Given the description of an element on the screen output the (x, y) to click on. 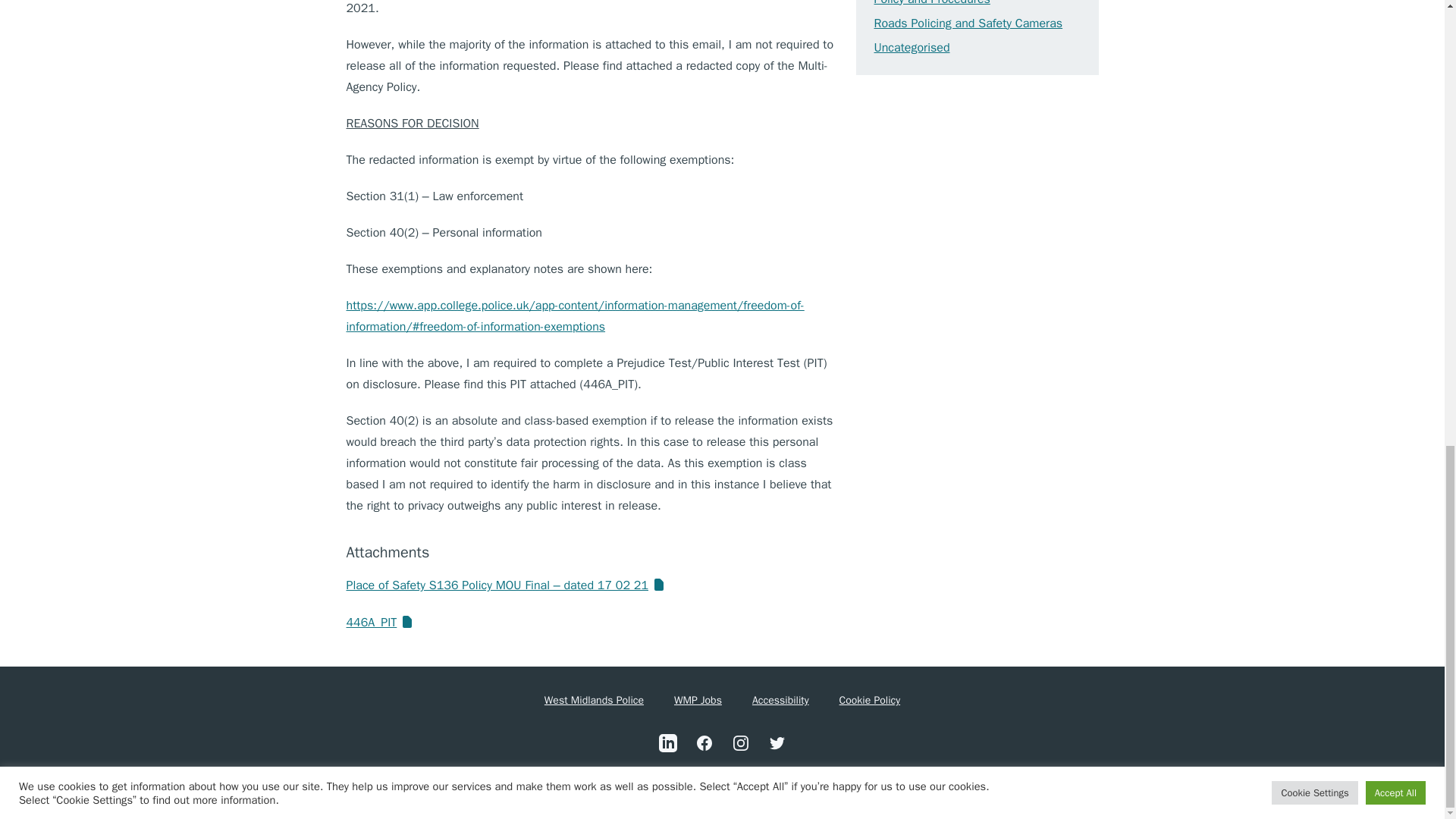
Policy and Procedures (931, 3)
